Given the description of an element on the screen output the (x, y) to click on. 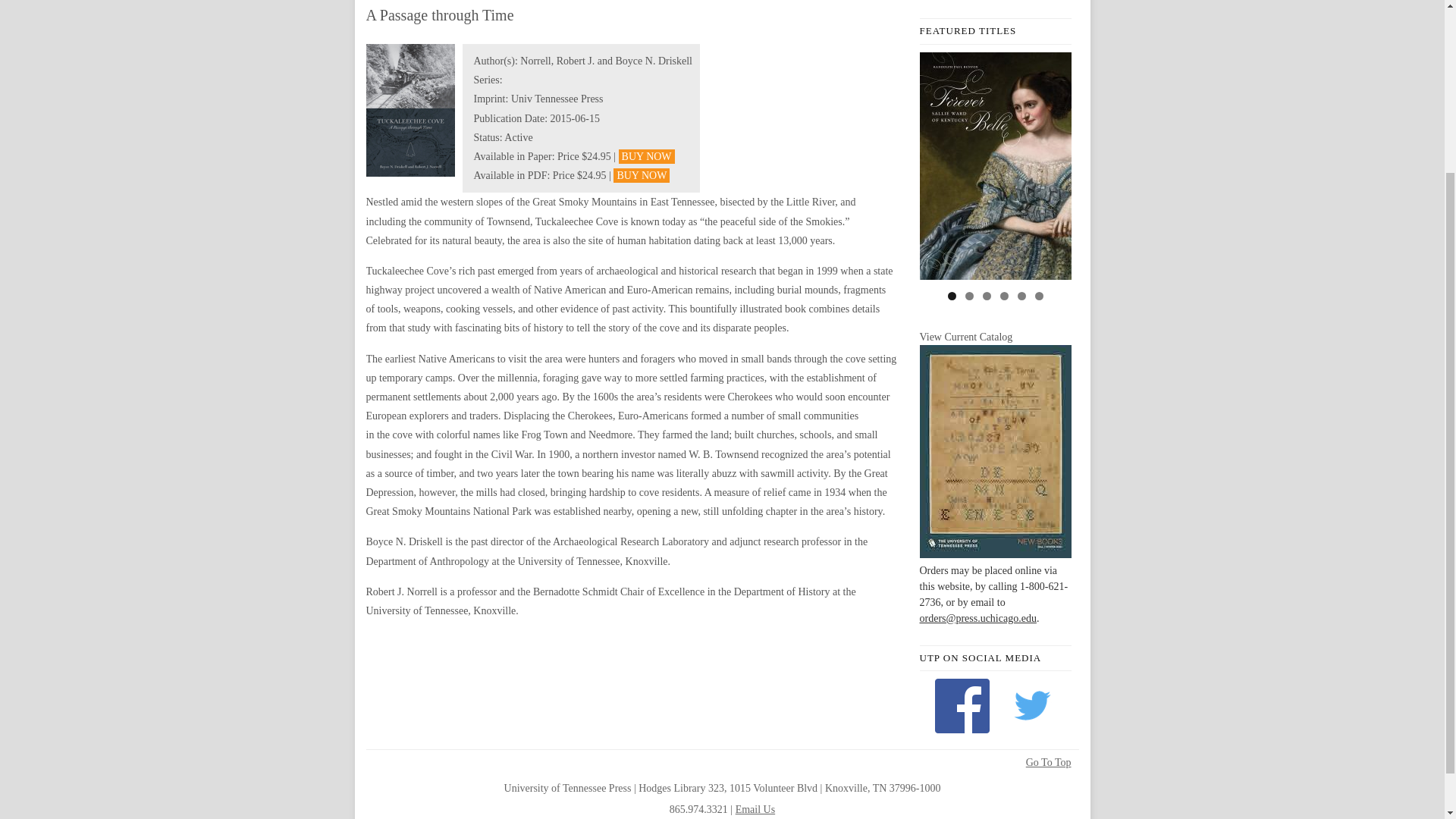
5 (1021, 295)
6 (1037, 295)
BUY NOW (640, 175)
BUY NOW (646, 156)
2 (967, 295)
3 (986, 295)
1 (951, 295)
Go To Top (1048, 762)
4 (1002, 295)
Email Us (755, 808)
